Given the description of an element on the screen output the (x, y) to click on. 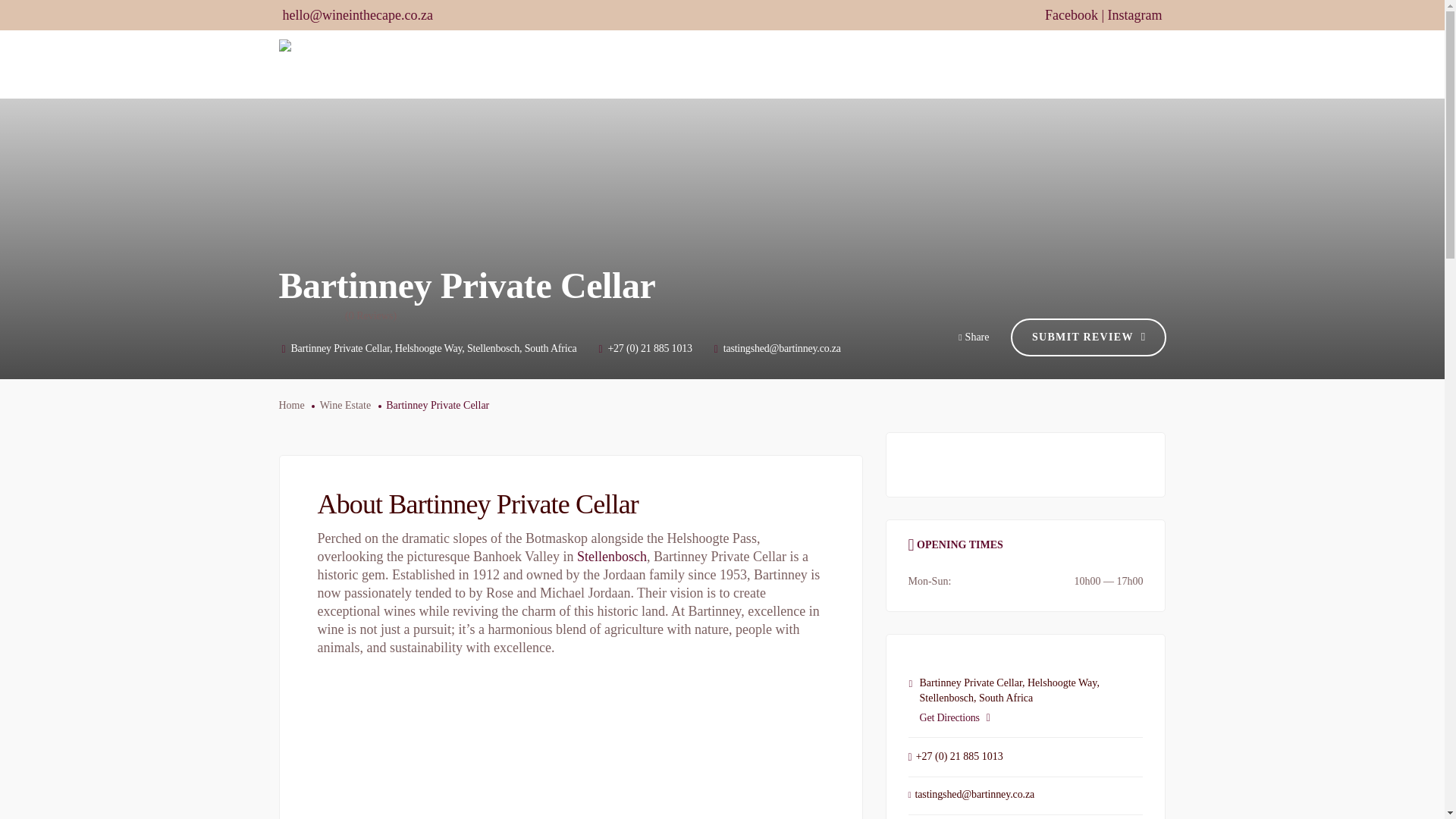
Weddings (879, 64)
Cape Wine Blog (1037, 64)
Instagram (1134, 14)
Facebook (1071, 14)
Home (605, 64)
Contact Us (1132, 64)
Wine Tours (799, 64)
Explore (950, 64)
Cape Wine Routes (694, 64)
